Given the description of an element on the screen output the (x, y) to click on. 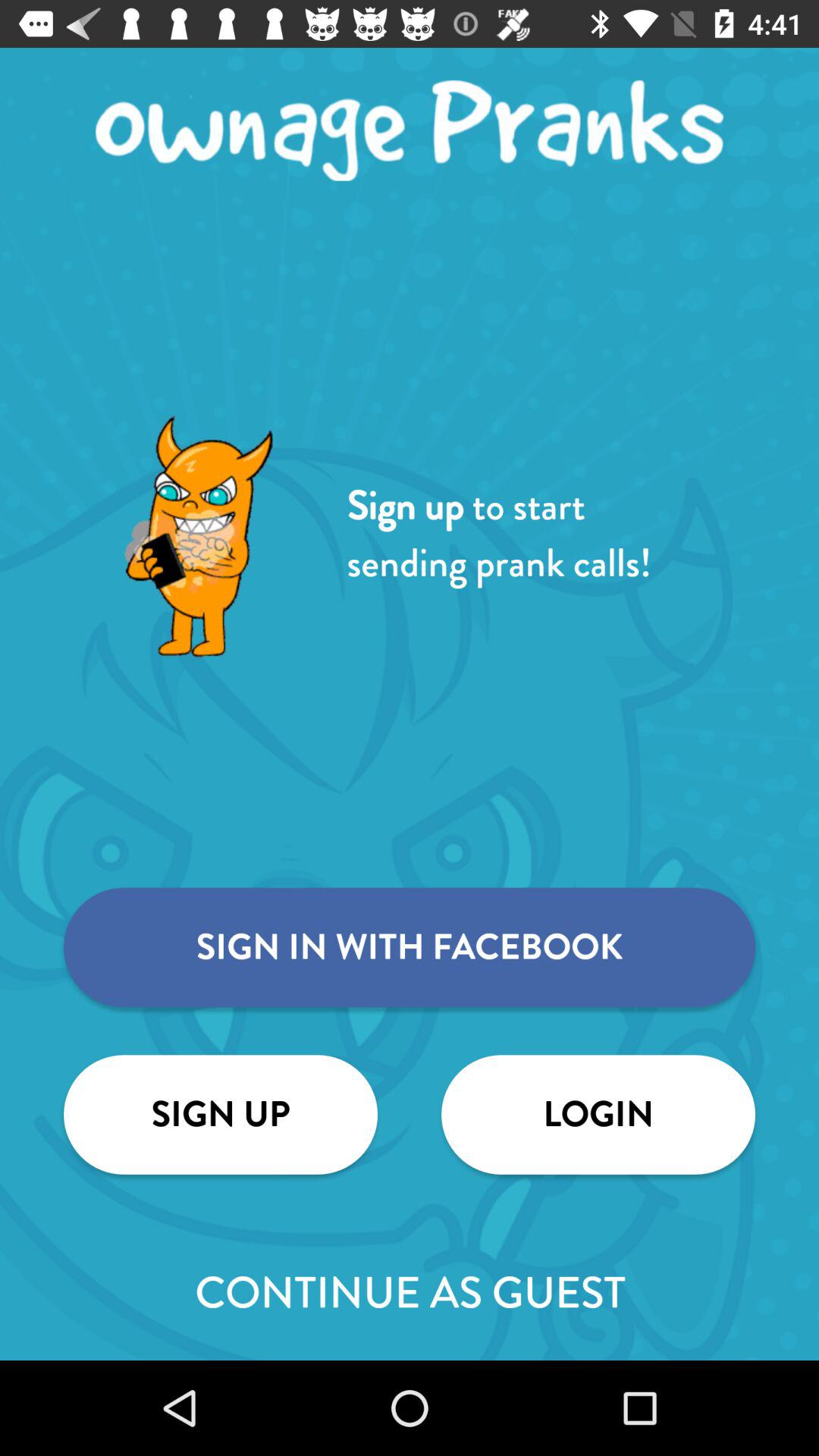
swipe to the login icon (598, 1114)
